Given the description of an element on the screen output the (x, y) to click on. 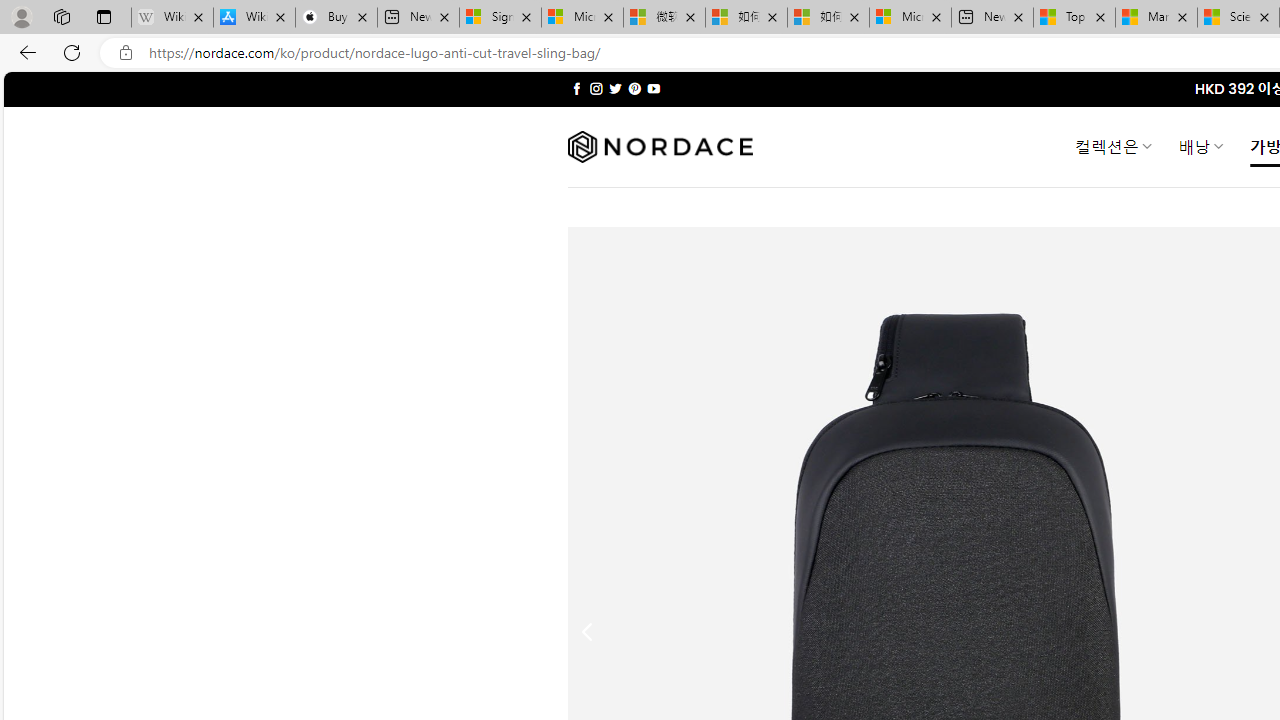
Follow on Instagram (596, 88)
Follow on Facebook (576, 88)
